Given the description of an element on the screen output the (x, y) to click on. 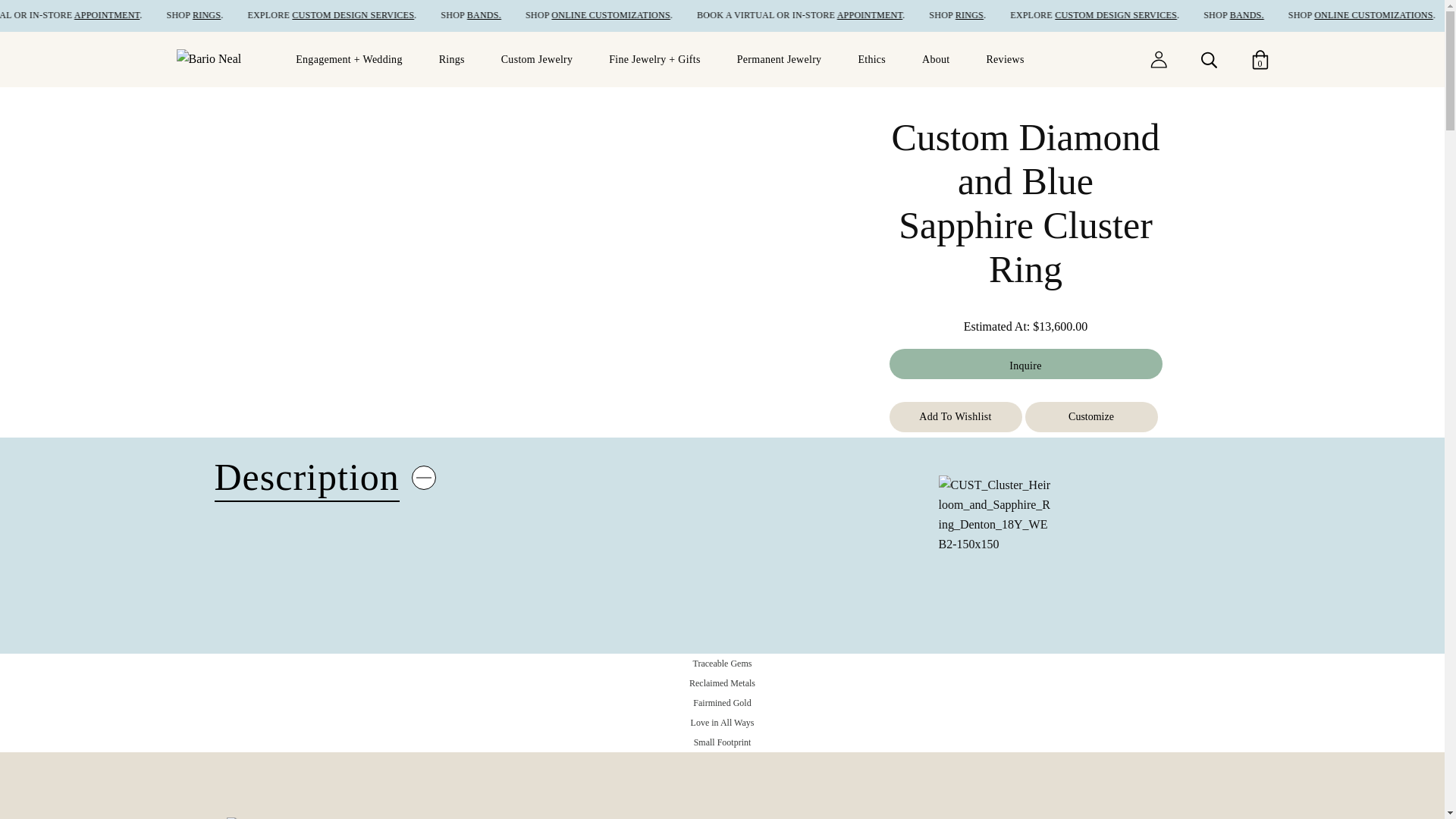
BANDS. (1301, 14)
APPOINTMENT (165, 14)
RINGS (1025, 14)
CUSTOM DESIGN SERVICES (1170, 14)
BANDS. (541, 14)
ONLINE CUSTOMIZATIONS (667, 14)
CUSTOM DESIGN SERVICES (411, 14)
RINGS (265, 14)
APPOINTMENT (925, 14)
My Account (1158, 57)
